Given the description of an element on the screen output the (x, y) to click on. 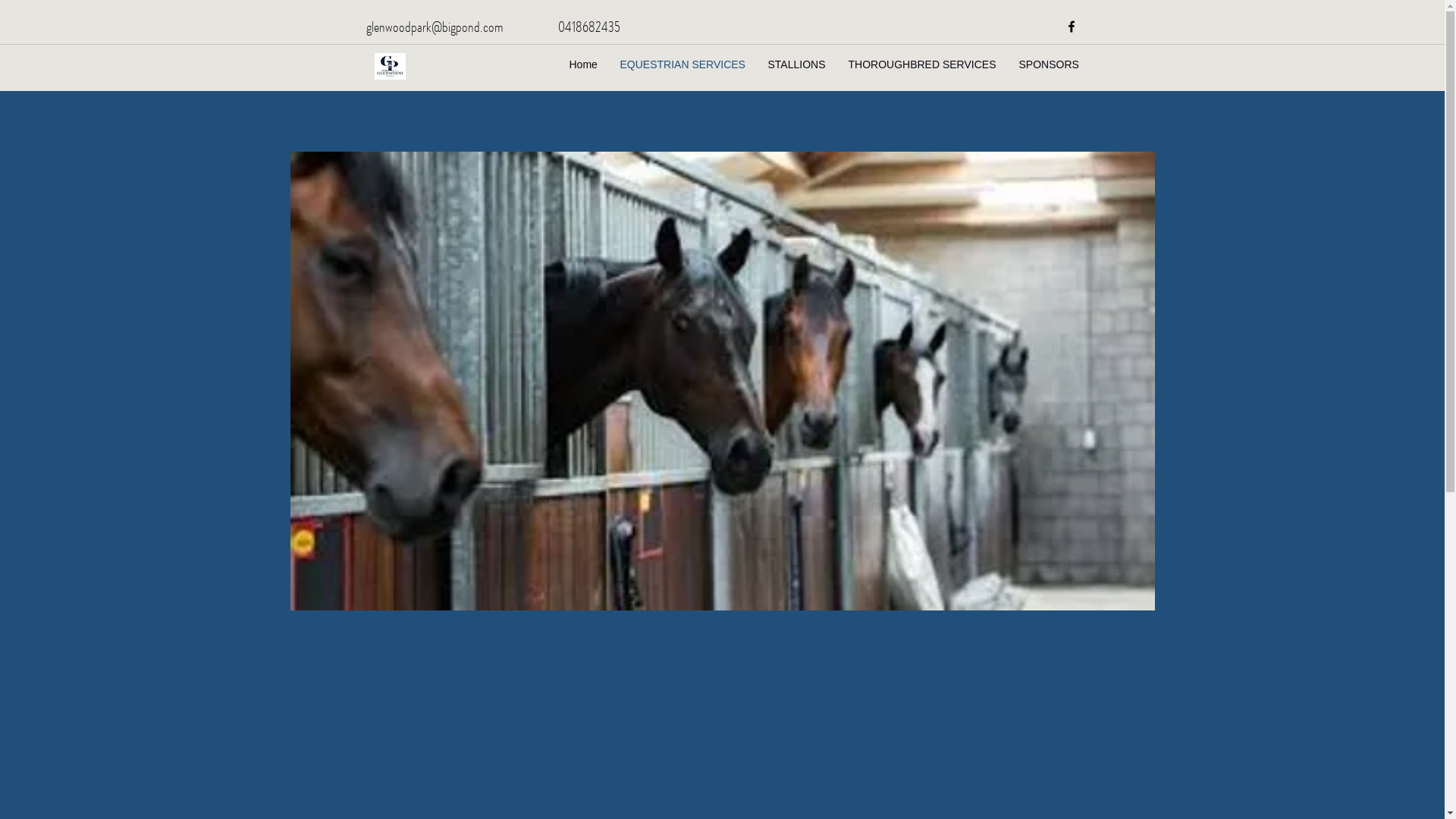
Home Element type: text (583, 64)
glenwoodpark@bigpond.com Element type: text (433, 25)
THOROUGHBRED SERVICES Element type: text (922, 64)
SPONSORS Element type: text (1048, 64)
STALLIONS Element type: text (796, 64)
EQUESTRIAN SERVICES Element type: text (682, 64)
